Given the description of an element on the screen output the (x, y) to click on. 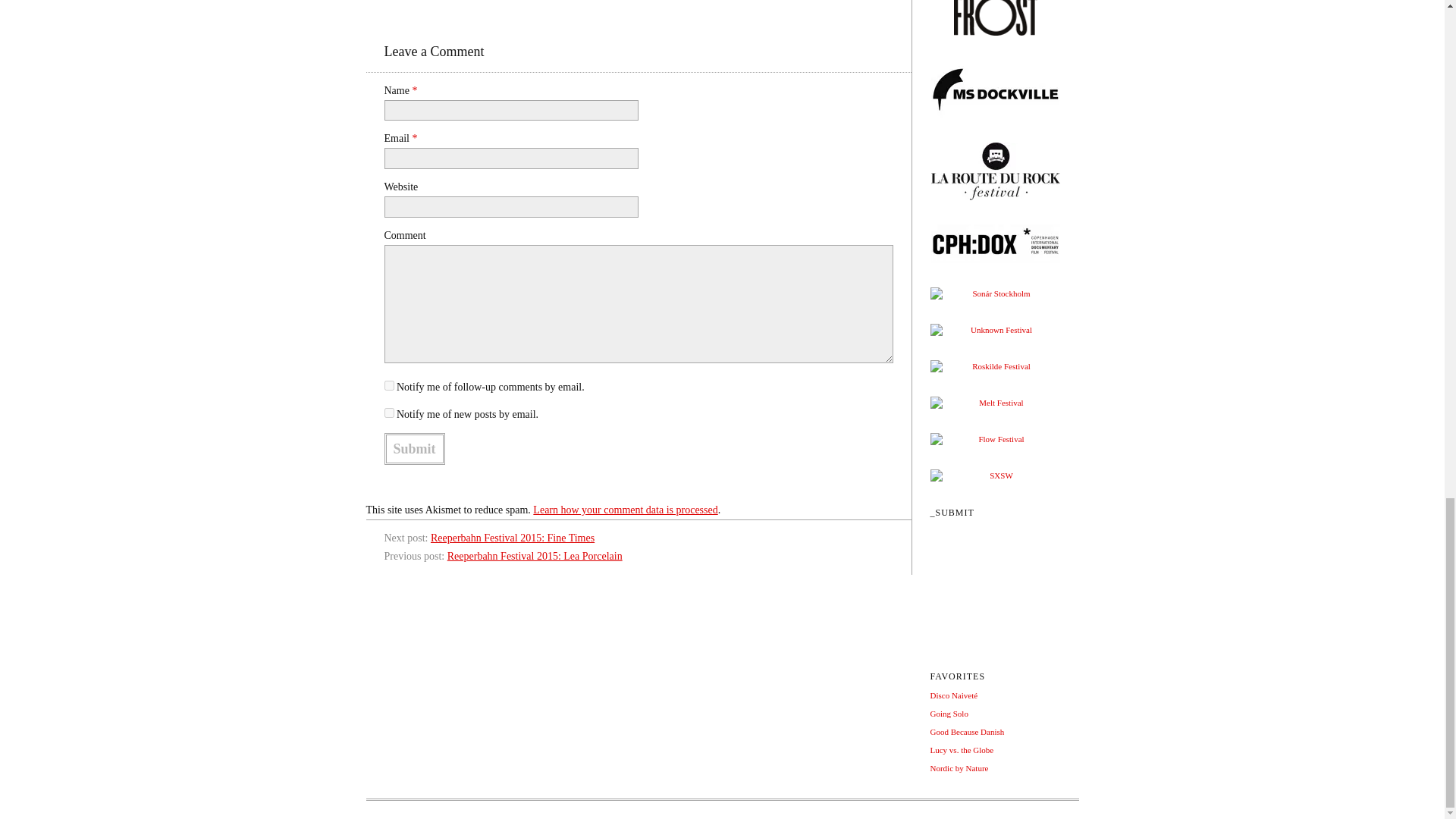
one fine femme of sass (961, 749)
subscribe (388, 412)
Reeperbahn Festival 2015: Fine Times (512, 537)
Steffi and Nina rule the world (959, 768)
Learn how your comment data is processed (624, 509)
Submit (414, 449)
Submit (414, 449)
Reeperbahn Festival 2015: Lea Porcelain (534, 555)
Authority on everything Danish (967, 731)
the CNN of music blogs (953, 695)
